Given the description of an element on the screen output the (x, y) to click on. 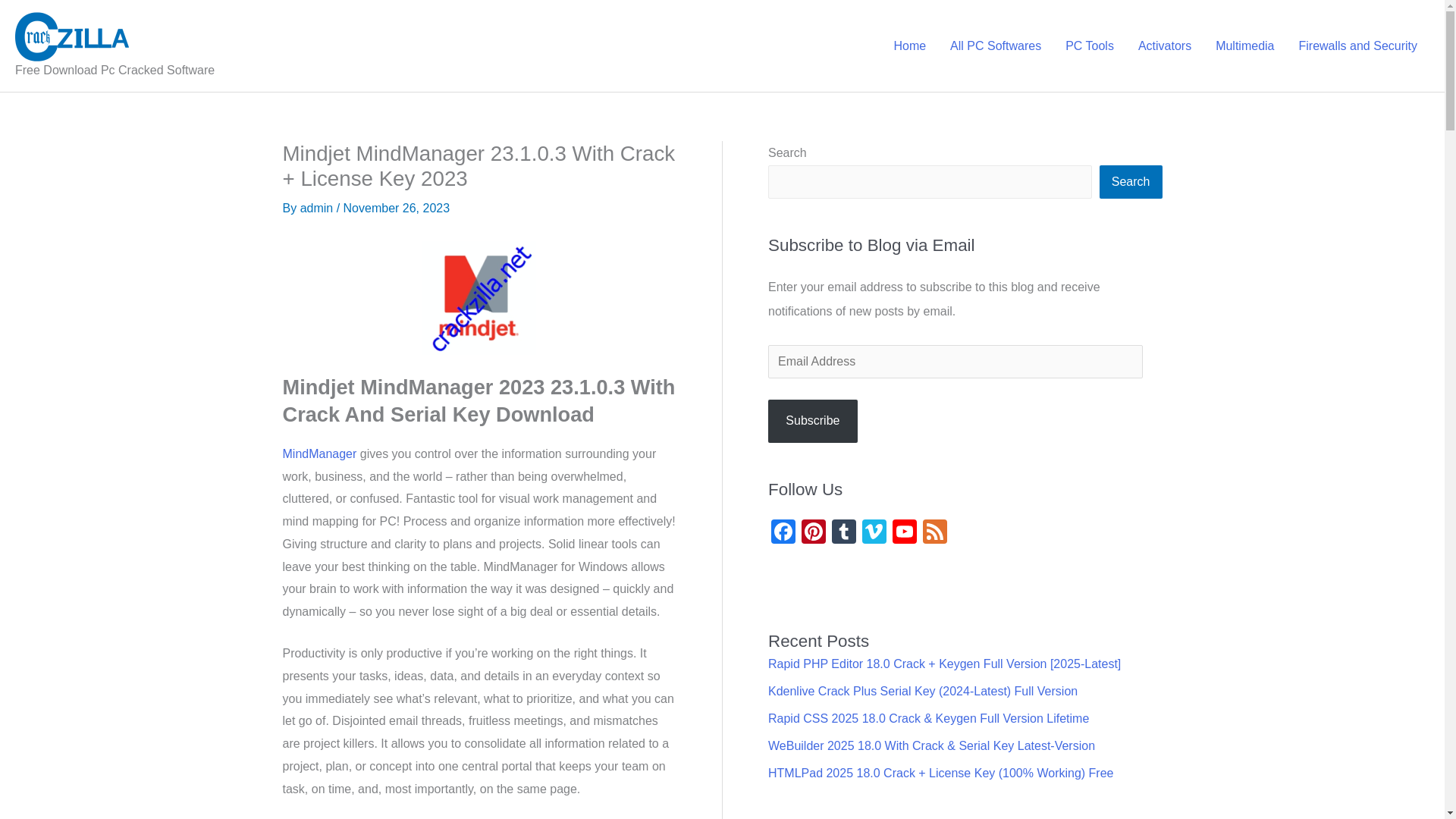
All PC Softwares (994, 45)
Home (908, 45)
Activators (1164, 45)
PC Tools (1088, 45)
Firewalls and Security (1357, 45)
View all posts by admin (317, 207)
Search (1130, 182)
Multimedia (1244, 45)
admin (317, 207)
MindManager (319, 453)
Subscribe (812, 421)
